Given the description of an element on the screen output the (x, y) to click on. 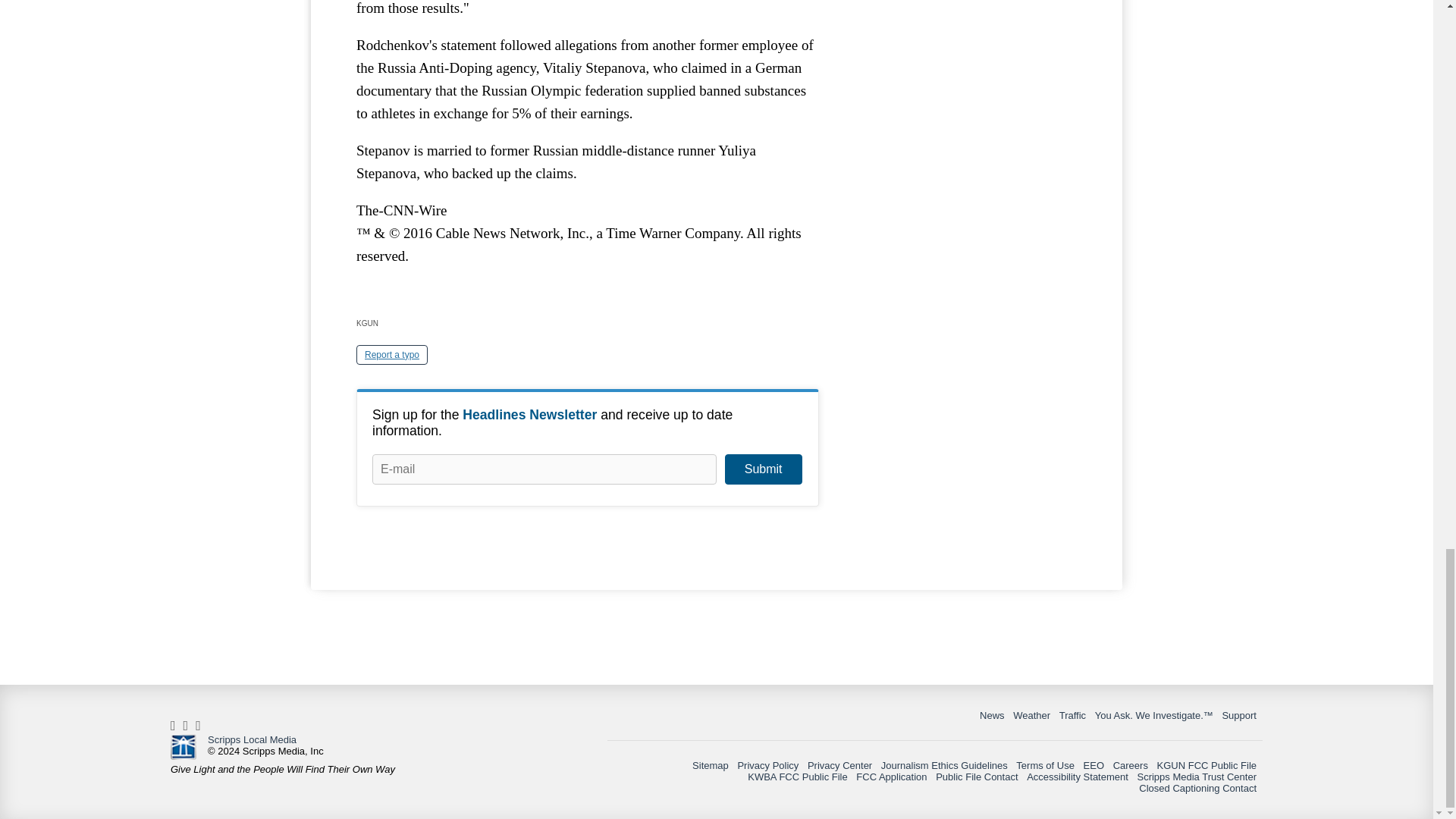
Submit (763, 469)
